Given the description of an element on the screen output the (x, y) to click on. 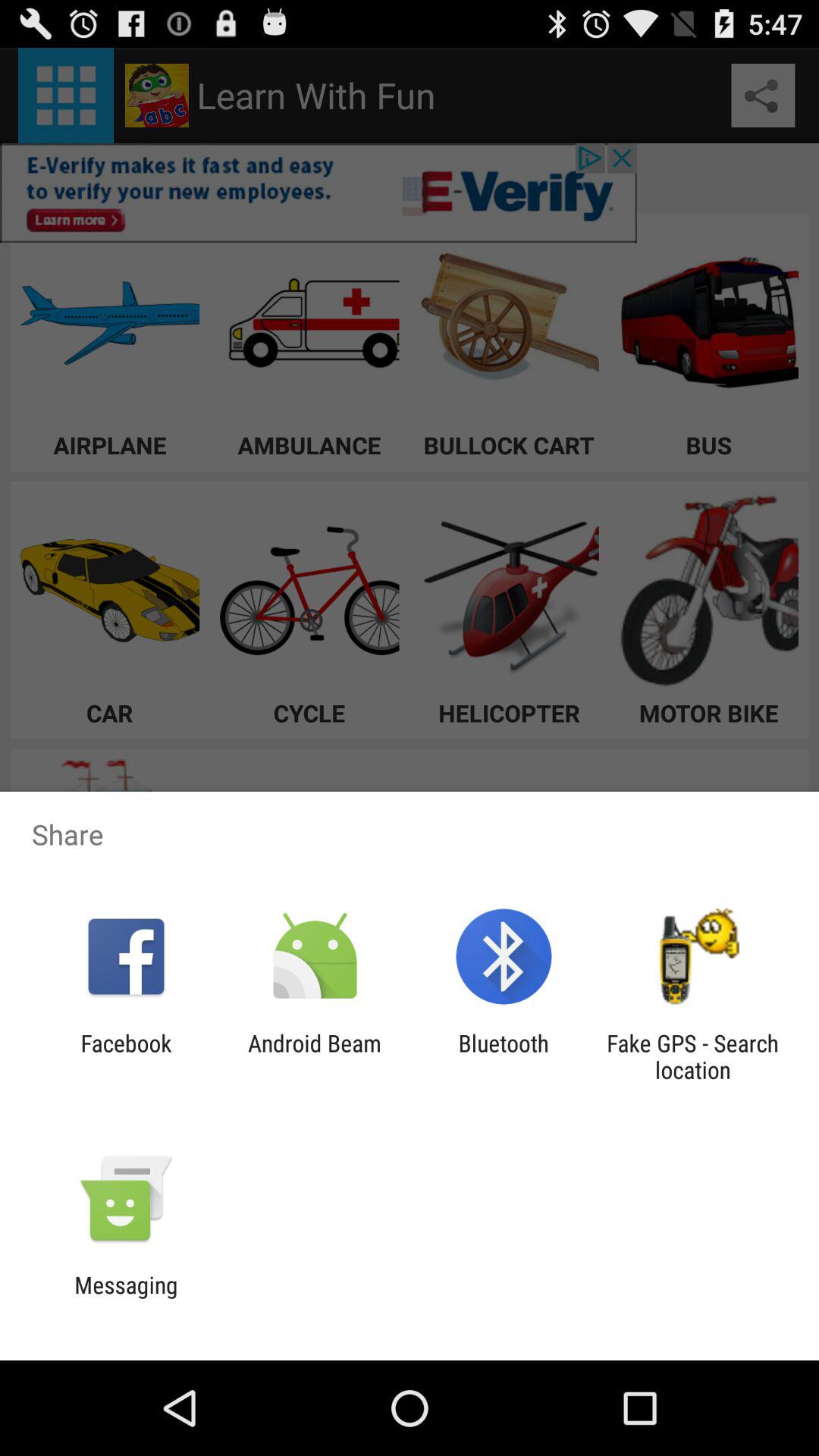
turn on facebook app (125, 1056)
